Given the description of an element on the screen output the (x, y) to click on. 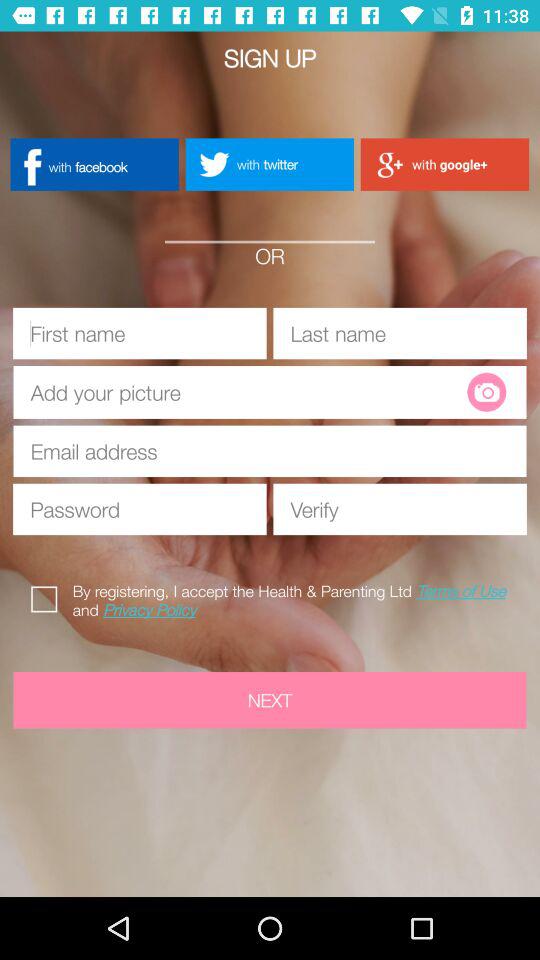
enter the password (139, 509)
